Given the description of an element on the screen output the (x, y) to click on. 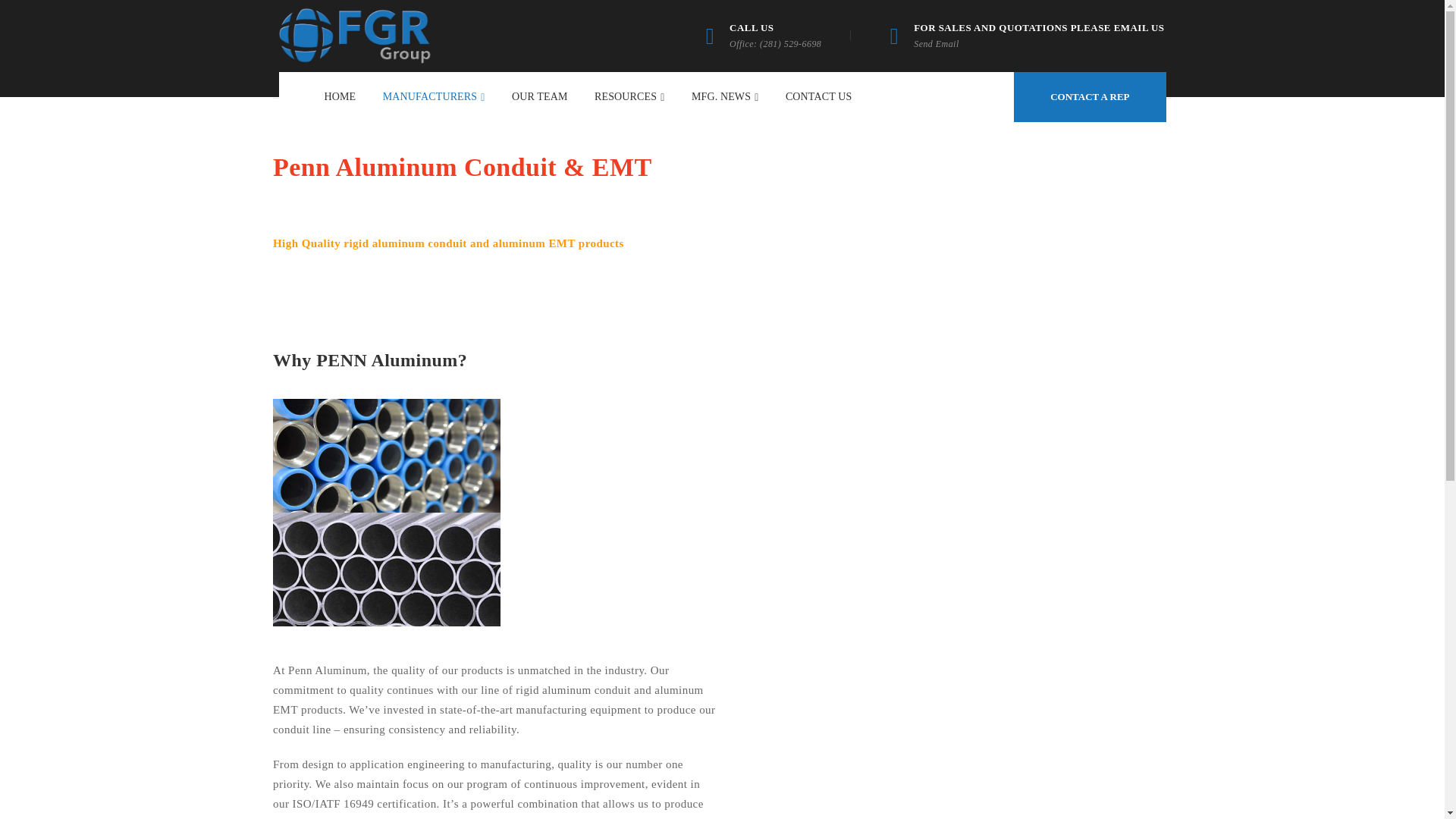
FGR Group-Electronic and Lighting Manufacturers Rep Agency (354, 34)
MFG. NEWS (724, 96)
RESOURCES (628, 96)
Send Email (936, 43)
MANUFACTURERS (433, 96)
HOME (340, 96)
OUR TEAM (539, 96)
